Given the description of an element on the screen output the (x, y) to click on. 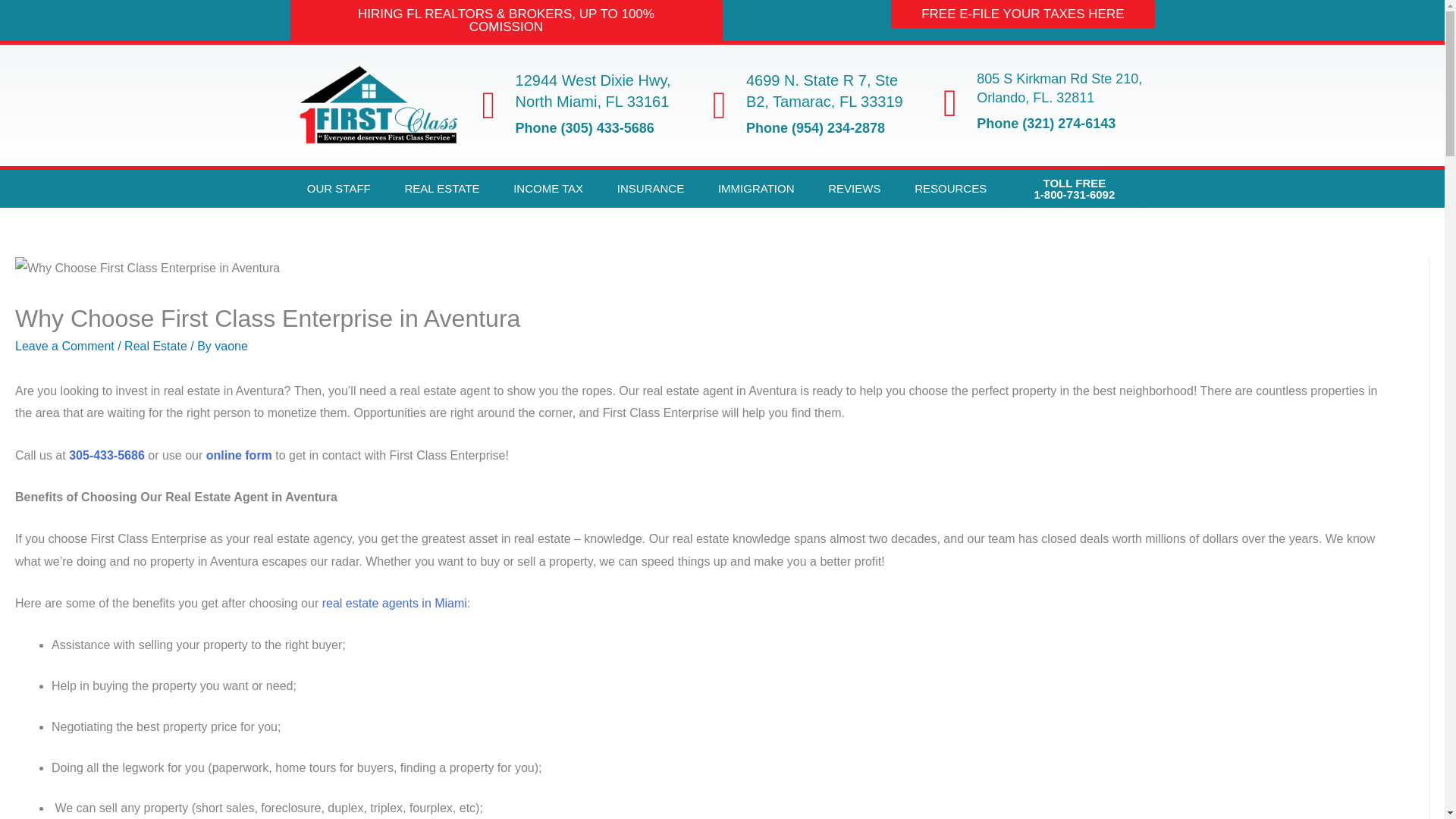
REAL ESTATE (441, 188)
OUR STAFF (338, 188)
805 S Kirkman Rd Ste 210, Orlando, FL. 32811 (1058, 88)
INCOME TAX (547, 188)
FREE E-FILE YOUR TAXES HERE (1022, 13)
12944 West Dixie Hwy, North Miami, FL 33161 (593, 90)
4699 N. State R 7, Ste B2, Tamarac, FL 33319 (823, 90)
View all posts by vaone (230, 345)
